Given the description of an element on the screen output the (x, y) to click on. 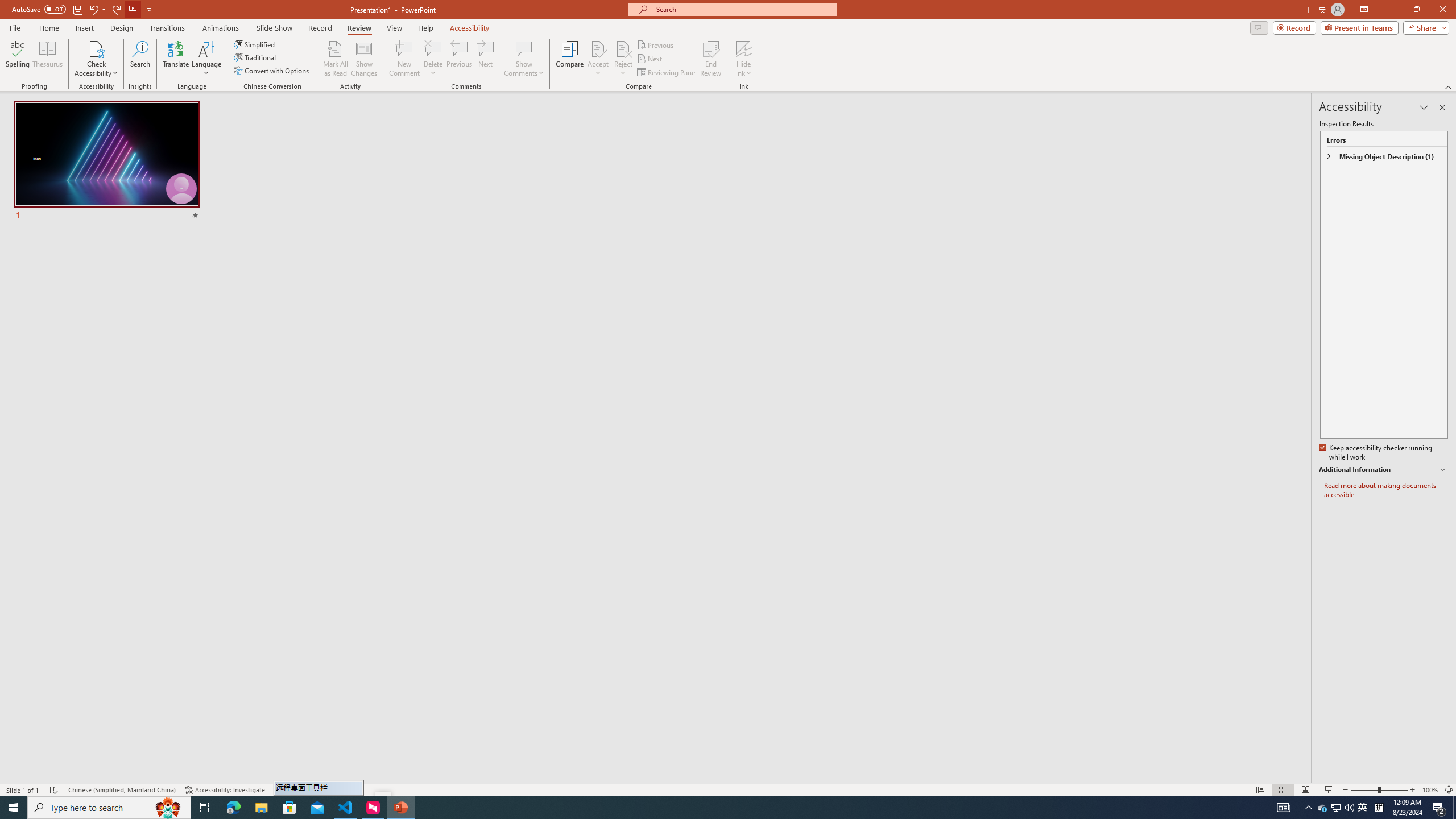
Zoom 100% (1430, 790)
